Given the description of an element on the screen output the (x, y) to click on. 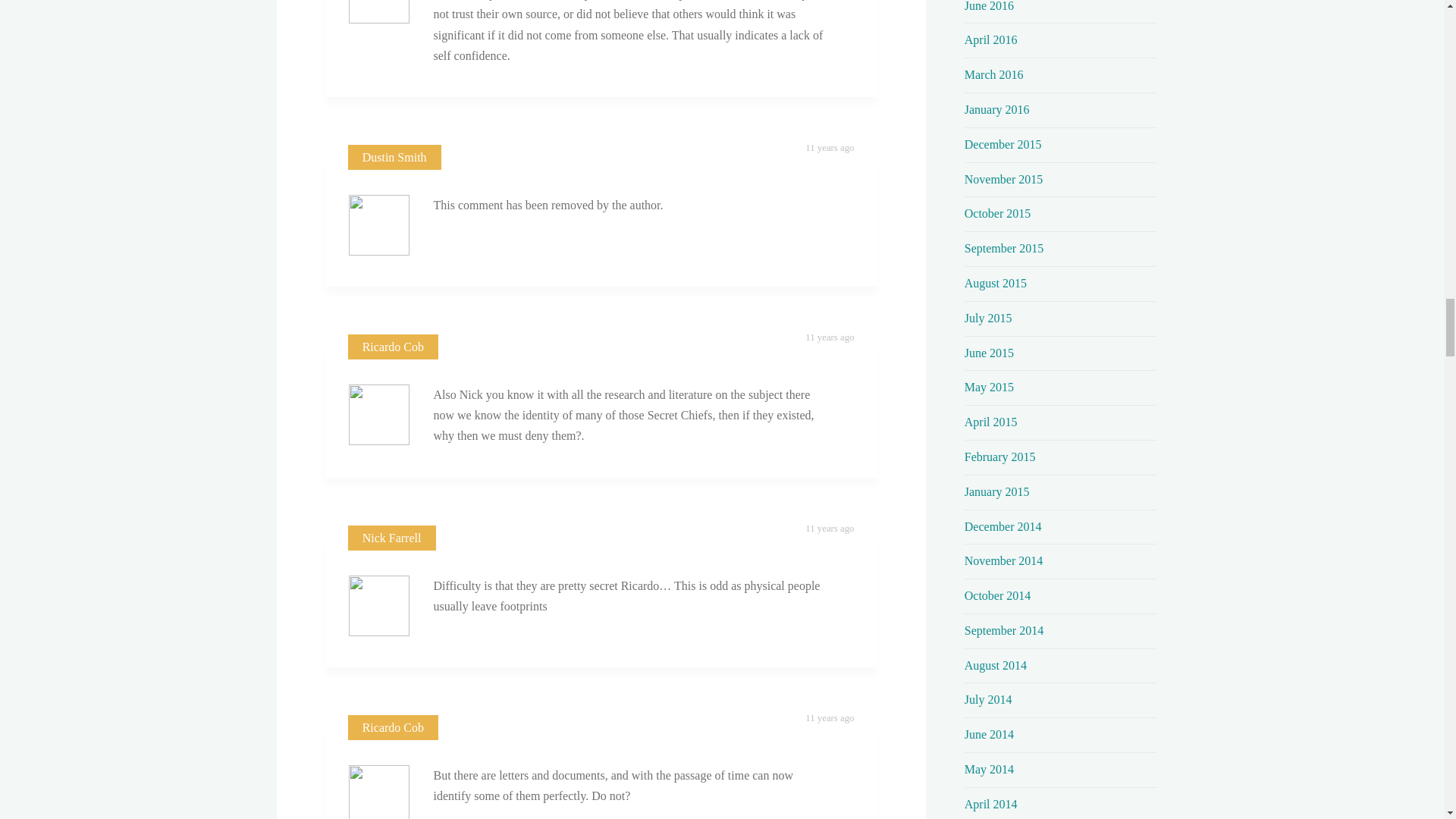
Ricardo Cob (392, 346)
11 years ago (829, 147)
Dustin Smith (394, 156)
11 years ago (829, 337)
Ricardo Cob (392, 727)
Nick Farrell (392, 537)
11 years ago (829, 717)
11 years ago (829, 528)
